Given the description of an element on the screen output the (x, y) to click on. 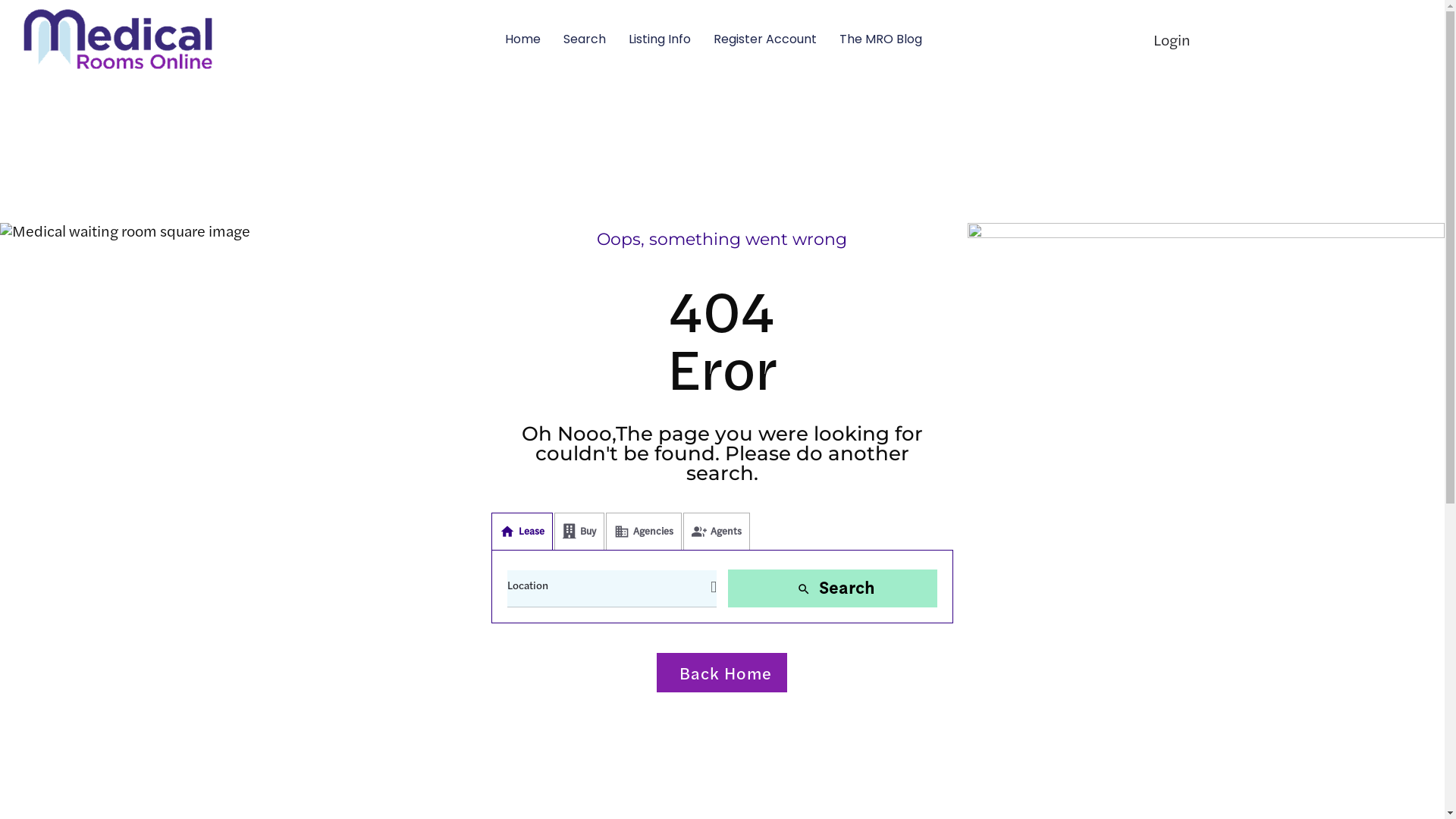
Buy Element type: text (579, 531)
Agencies Element type: text (643, 531)
Register Account Element type: text (764, 38)
Home Element type: text (522, 38)
Login Element type: text (1171, 38)
Search Element type: text (584, 38)
Lease Element type: text (521, 531)
Listing Info Element type: text (659, 38)
Back Home Element type: text (721, 672)
The MRO Blog Element type: text (880, 38)
Search Element type: text (832, 588)
Agents Element type: text (716, 531)
